Given the description of an element on the screen output the (x, y) to click on. 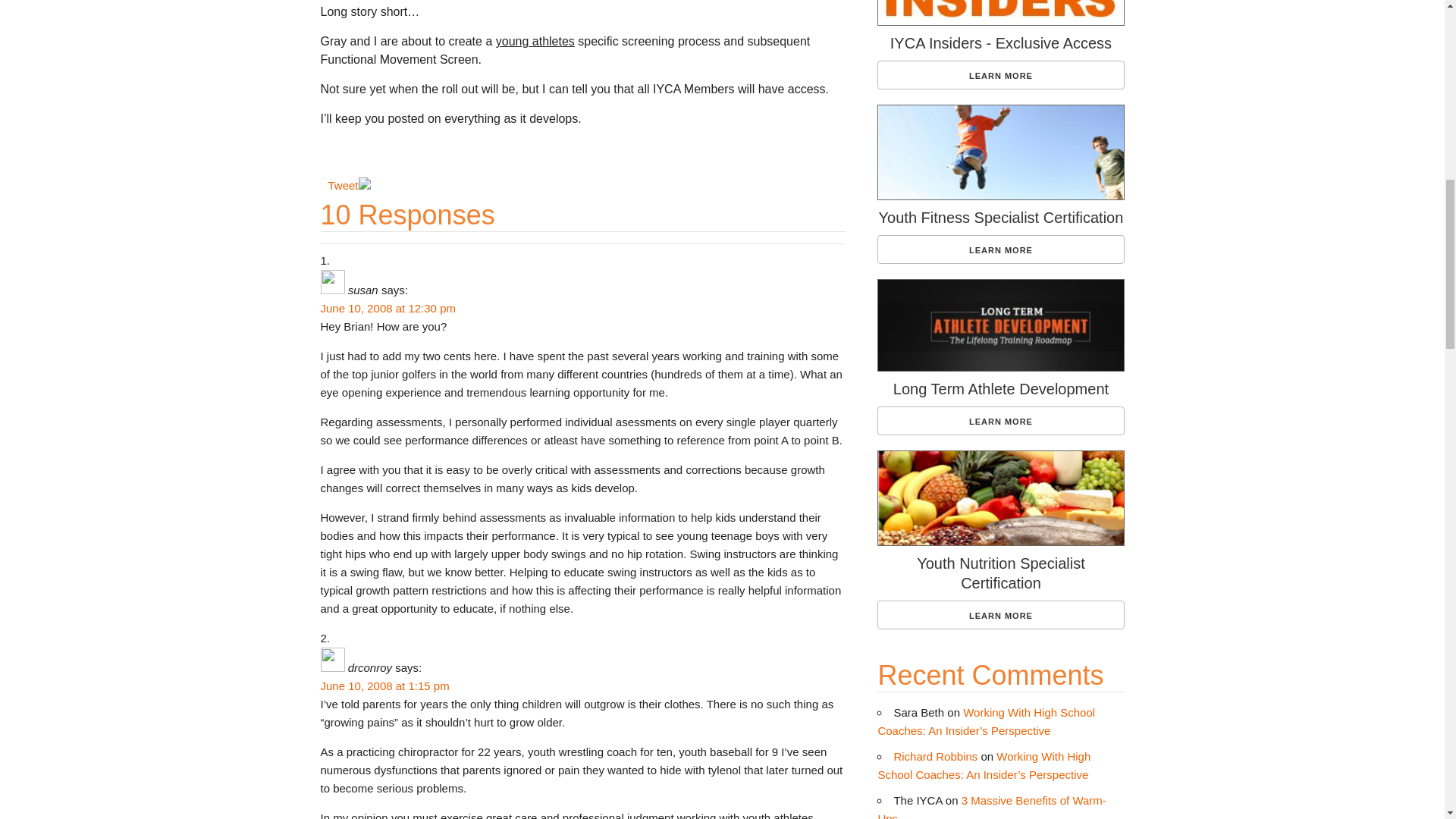
Tweet (342, 185)
June 10, 2008 at 12:30 pm (387, 308)
June 10, 2008 at 1:15 pm (384, 685)
